Given the description of an element on the screen output the (x, y) to click on. 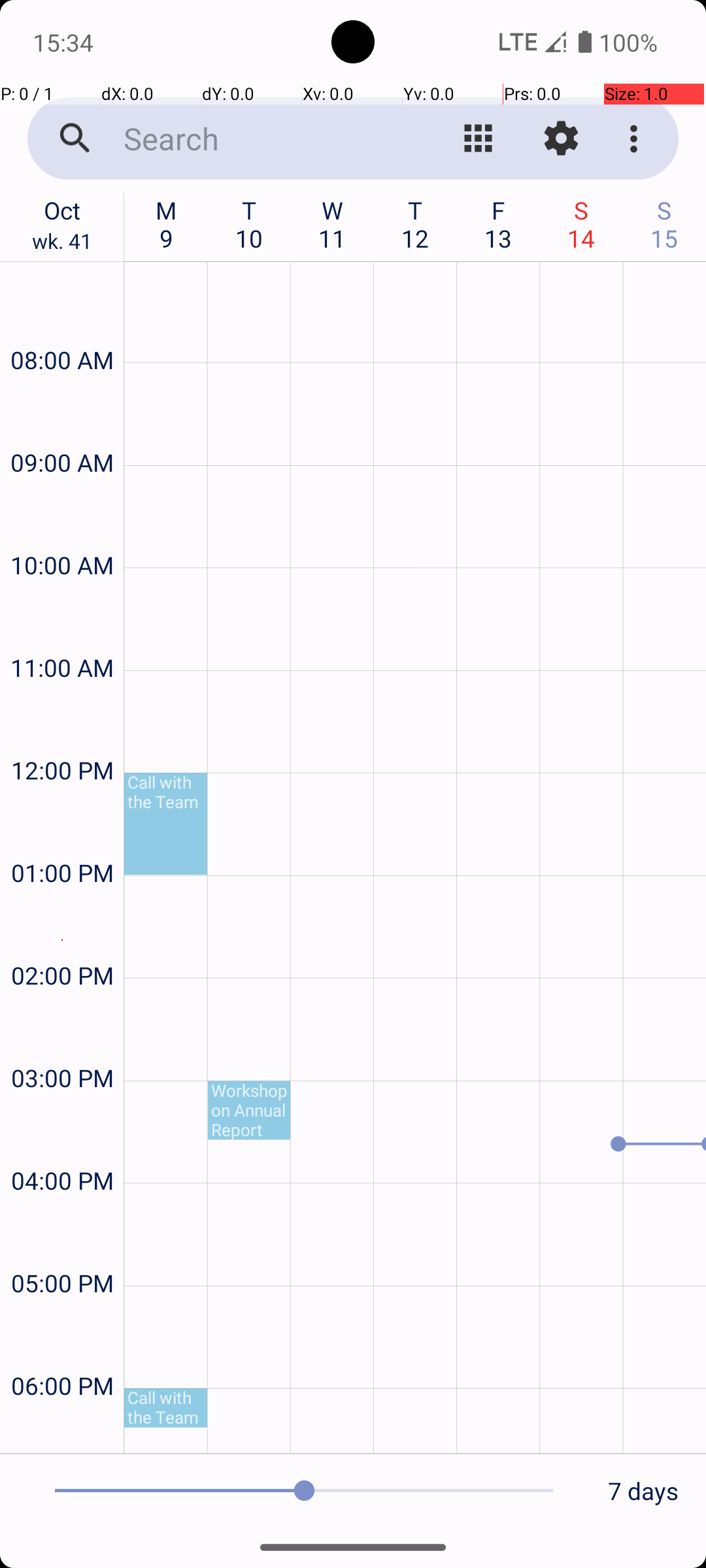
08:00 AM Element type: android.widget.TextView (62, 324)
09:00 AM Element type: android.widget.TextView (62, 427)
10:00 AM Element type: android.widget.TextView (62, 529)
11:00 AM Element type: android.widget.TextView (62, 632)
12:00 PM Element type: android.widget.TextView (62, 735)
01:00 PM Element type: android.widget.TextView (62, 837)
02:00 PM Element type: android.widget.TextView (62, 940)
03:00 PM Element type: android.widget.TextView (62, 1042)
04:00 PM Element type: android.widget.TextView (62, 1145)
05:00 PM Element type: android.widget.TextView (62, 1247)
06:00 PM Element type: android.widget.TextView (62, 1350)
07:00 PM Element type: android.widget.TextView (62, 1428)
Call with the Team Element type: android.widget.TextView (165, 823)
